Given the description of an element on the screen output the (x, y) to click on. 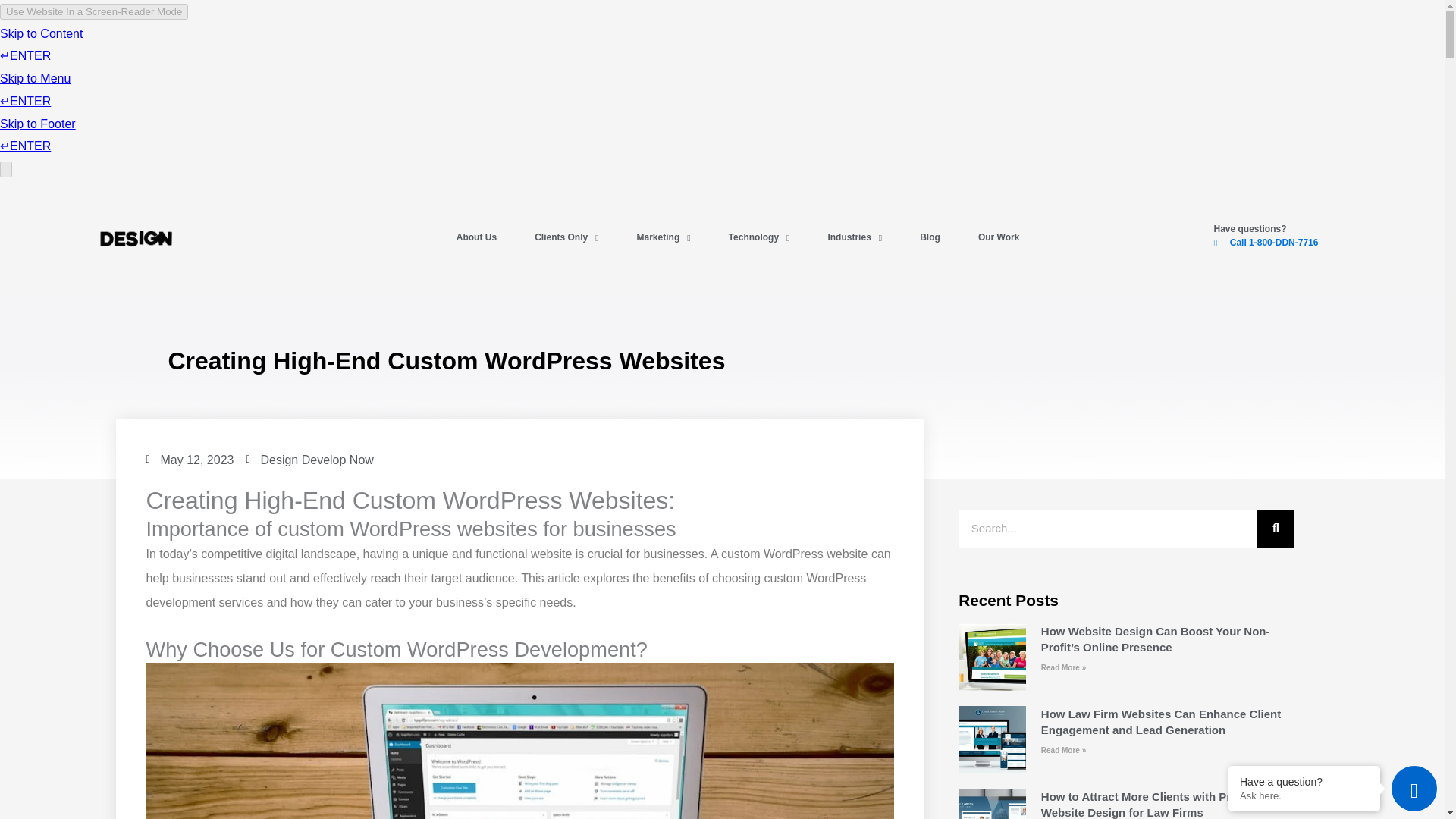
Marketing (663, 237)
Technology (759, 237)
Blog (929, 237)
Clients Only (565, 237)
Have a question? (1304, 781)
Industries (854, 237)
Our Work (997, 237)
Ask here. (1304, 795)
About Us (476, 237)
